Given the description of an element on the screen output the (x, y) to click on. 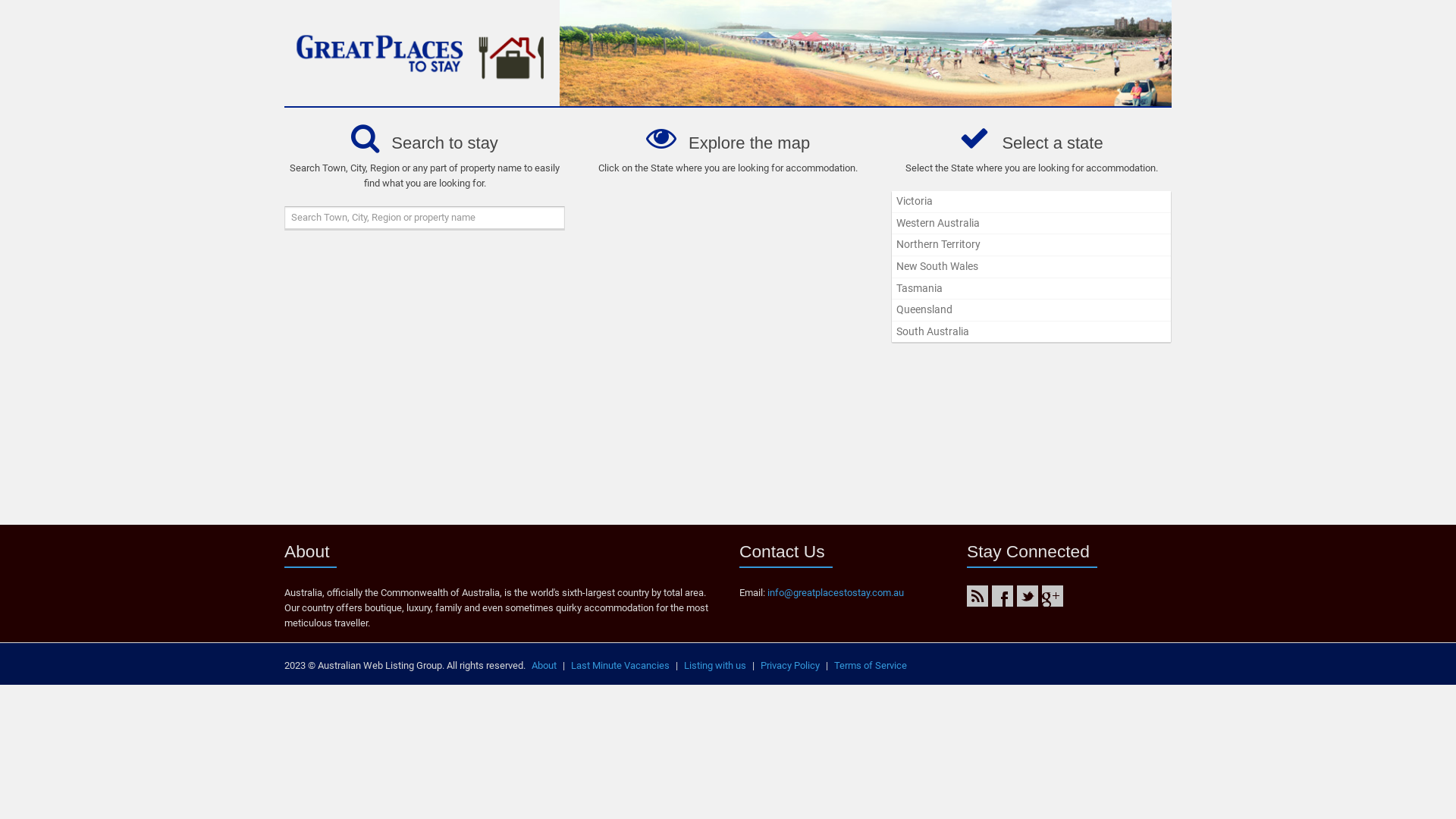
Terms of Service Element type: text (870, 665)
Western Australia Element type: text (1030, 223)
Victoria Element type: text (1030, 201)
Twitter Element type: text (1027, 595)
Listing with us Element type: text (715, 665)
RSS Feed Element type: text (977, 595)
info@greatplacestostay.com.au Element type: text (835, 592)
Last Minute Vacancies Element type: text (620, 665)
South Australia Element type: text (1030, 331)
Queensland Element type: text (1030, 309)
Tasmania Element type: text (1030, 288)
New South Wales Element type: text (1030, 266)
Facebook Element type: text (1002, 595)
Google Plus Element type: text (1052, 595)
Northern Territory Element type: text (1030, 244)
Privacy Policy Element type: text (789, 665)
About Element type: text (543, 665)
